Given the description of an element on the screen output the (x, y) to click on. 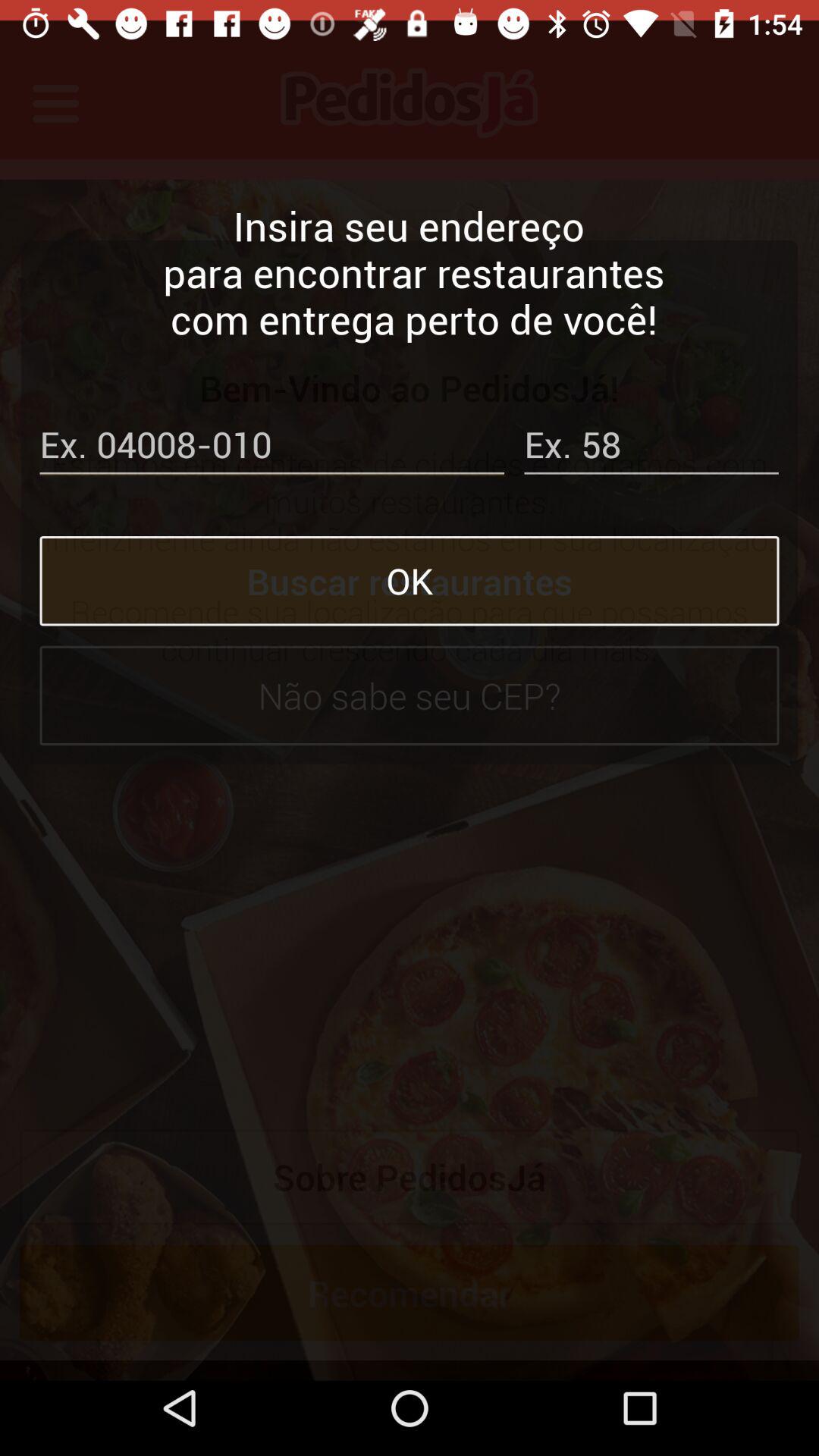
insert your street number (651, 427)
